Given the description of an element on the screen output the (x, y) to click on. 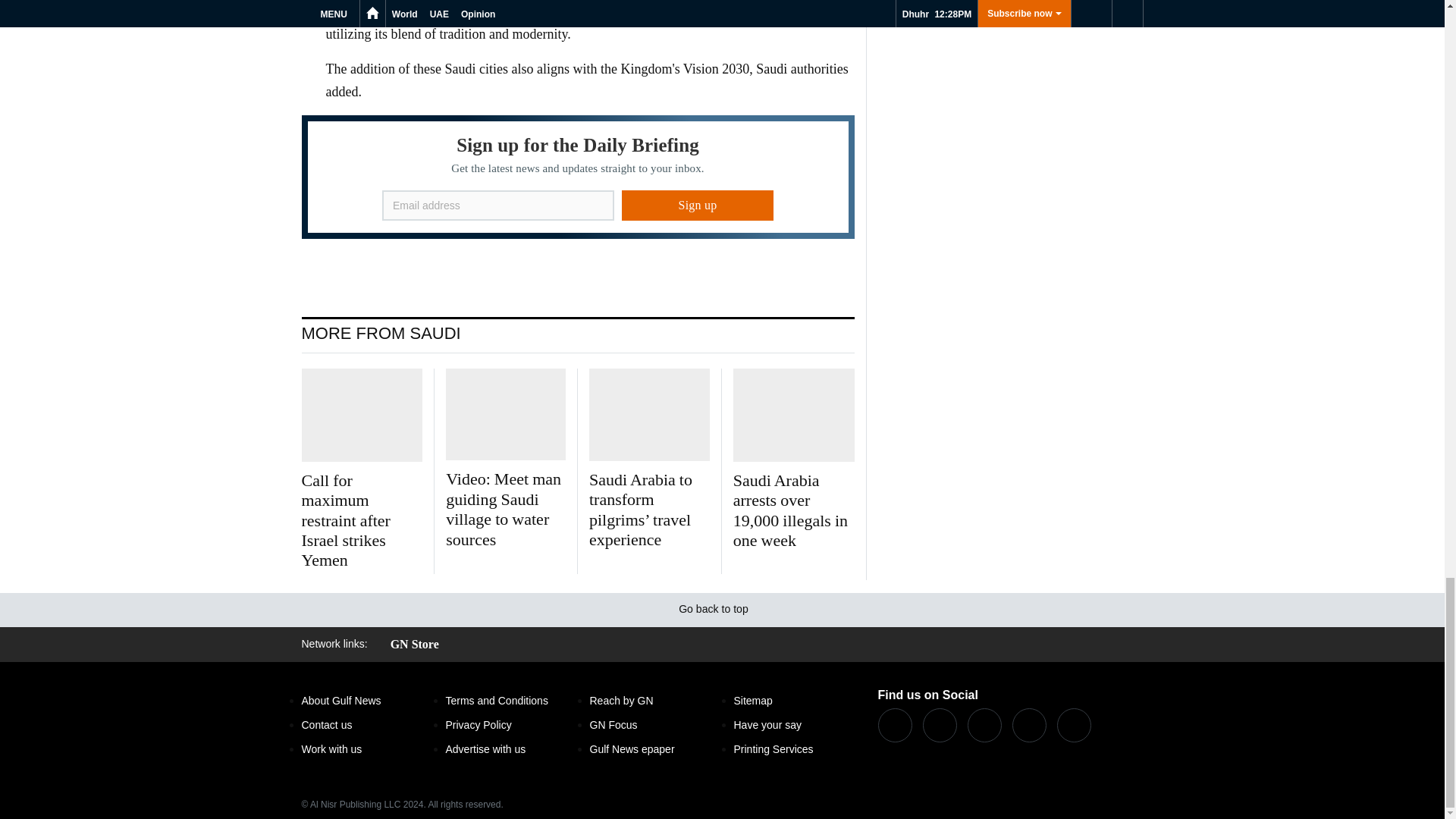
Sign up for the Daily Briefing (577, 177)
